Given the description of an element on the screen output the (x, y) to click on. 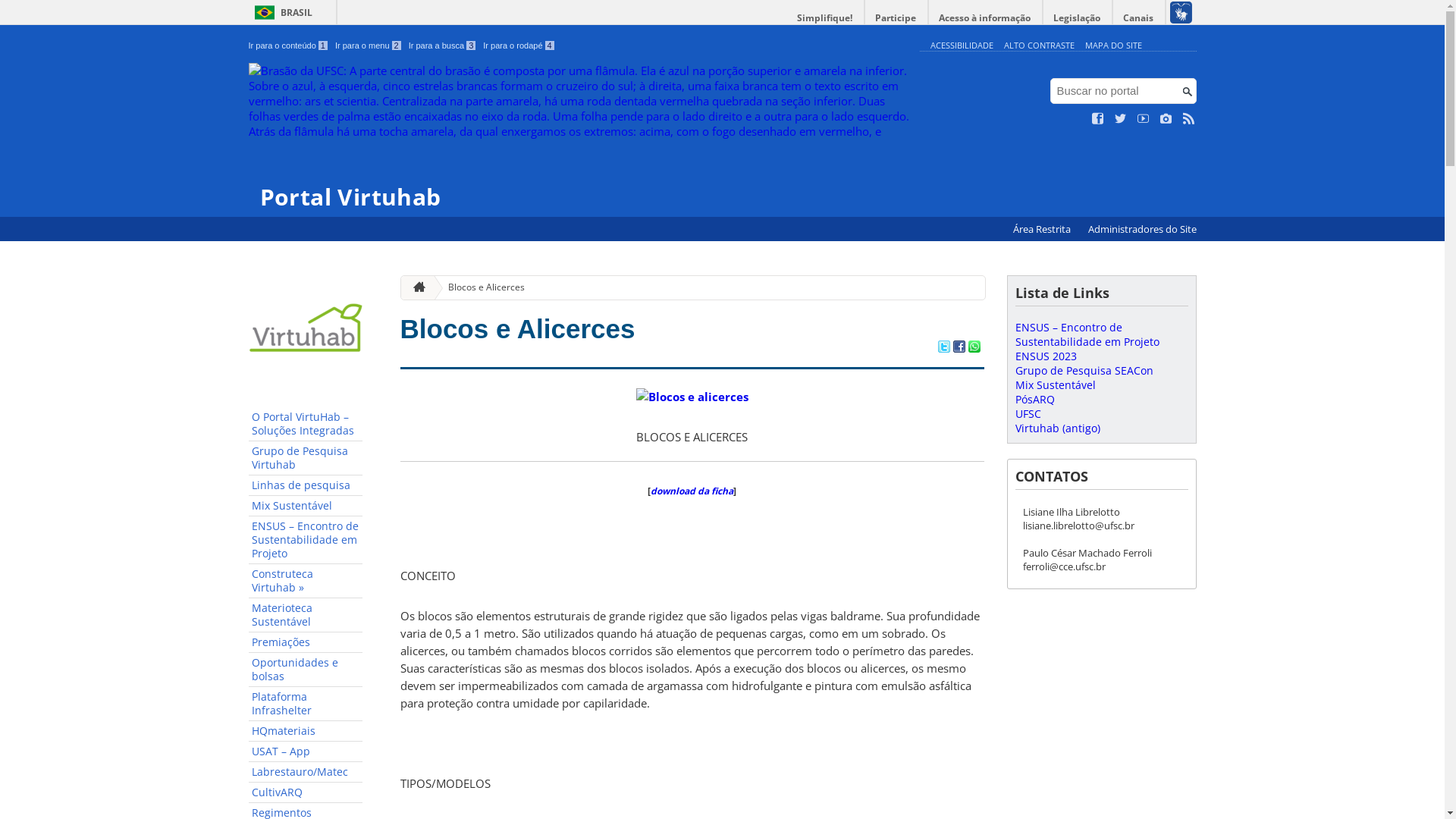
HQmateriais Element type: text (305, 731)
download da ficha Element type: text (691, 490)
ENSUS 2023 Element type: text (1045, 355)
Portal Virtuhab Element type: text (580, 135)
Simplifique! Element type: text (825, 18)
Grupo de Pesquisa Virtuhab Element type: text (305, 458)
Virtuhab (antigo) Element type: text (1056, 427)
Blocos e Alicerces Element type: text (479, 287)
Grupo de Pesquisa SEACon Element type: text (1083, 370)
CultivARQ Element type: text (305, 792)
Linhas de pesquisa Element type: text (305, 485)
Veja no Instagram Element type: hover (1166, 118)
Ir para a busca 3 Element type: text (442, 45)
Blocos e Alicerces Element type: text (517, 328)
ALTO CONTRASTE Element type: text (1039, 44)
Participe Element type: text (895, 18)
Siga no Twitter Element type: hover (1120, 118)
MAPA DO SITE Element type: text (1112, 44)
BRASIL Element type: text (280, 12)
UFSC Element type: text (1027, 413)
Canais Element type: text (1138, 18)
ACESSIBILIDADE Element type: text (960, 44)
Ir para o menu 2 Element type: text (368, 45)
Compartilhar no WhatsApp Element type: hover (973, 347)
Labrestauro/Matec Element type: text (305, 772)
Plataforma Infrashelter Element type: text (305, 704)
Administradores do Site Element type: text (1141, 228)
Oportunidades e bolsas Element type: text (305, 669)
Curta no Facebook Element type: hover (1098, 118)
Compartilhar no Facebook Element type: hover (958, 347)
Compartilhar no Twitter Element type: hover (943, 347)
